Given the description of an element on the screen output the (x, y) to click on. 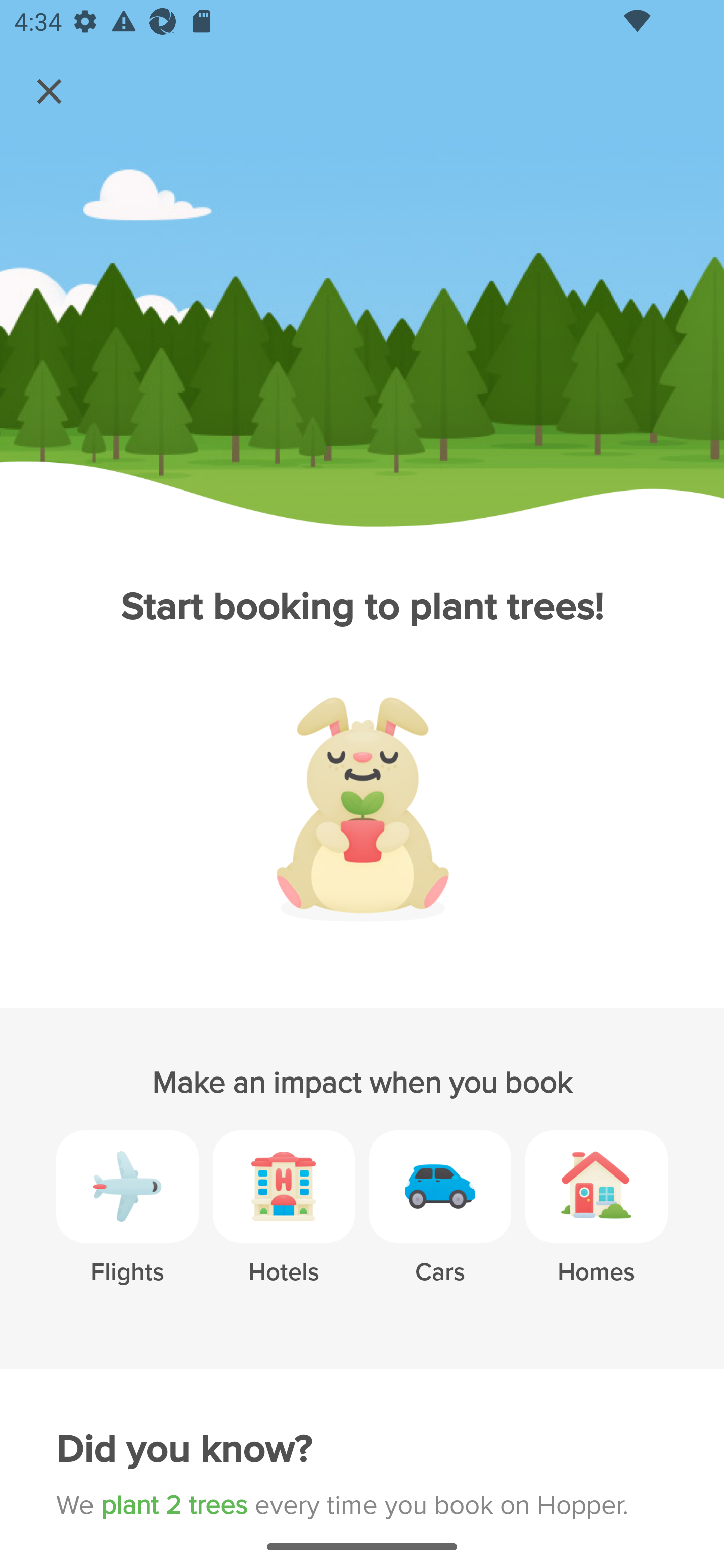
Navigate up (49, 91)
Flights (127, 1221)
Hotels (283, 1221)
Cars (440, 1221)
Homes (596, 1221)
